Given the description of an element on the screen output the (x, y) to click on. 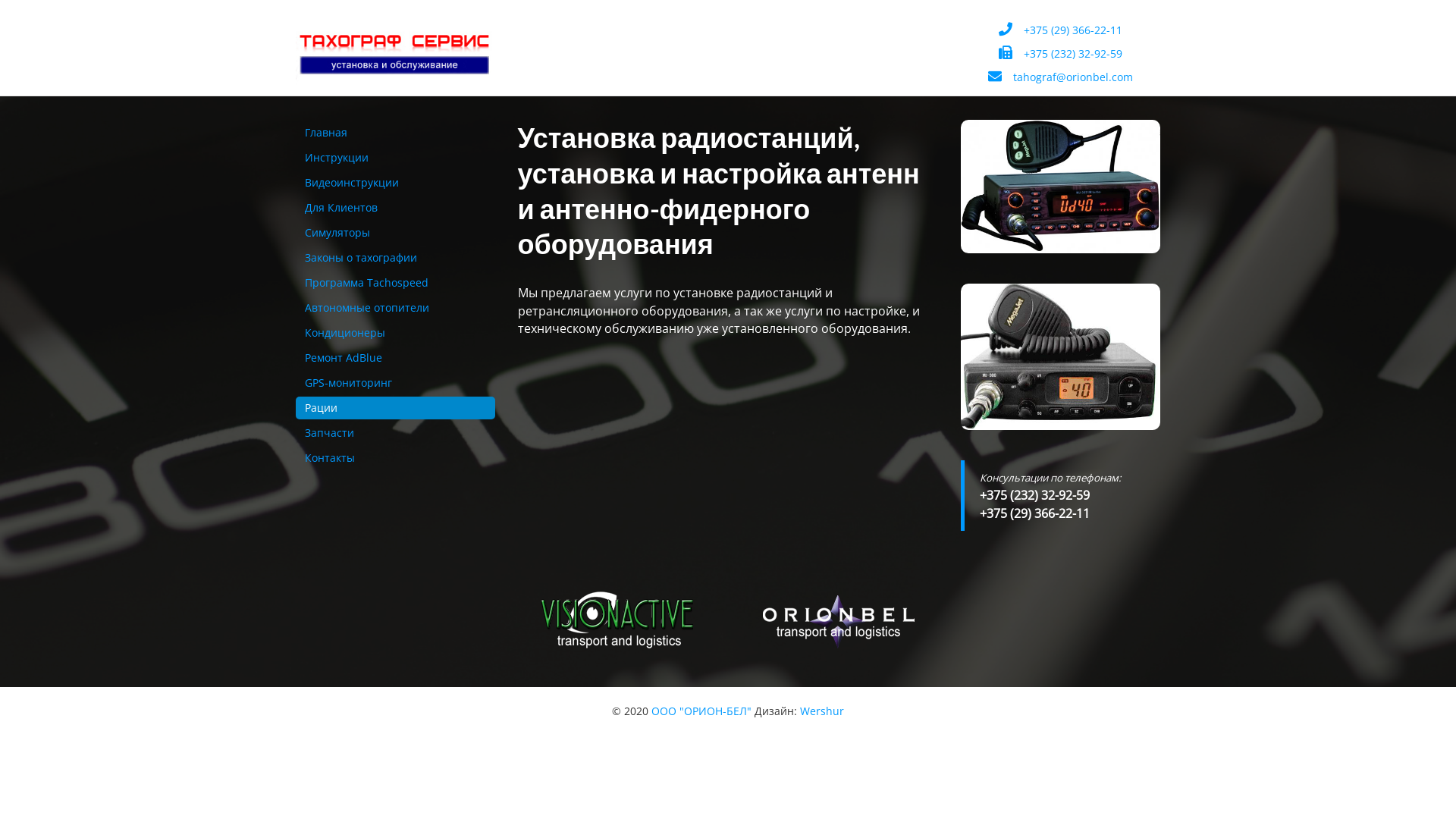
 tahograf@orionbel.com Element type: text (1060, 76)
 +375 (29) 366-22-11 Element type: text (1060, 29)
 +375 (232) 32-92-59 Element type: text (1060, 53)
Wershur Element type: text (822, 710)
